Given the description of an element on the screen output the (x, y) to click on. 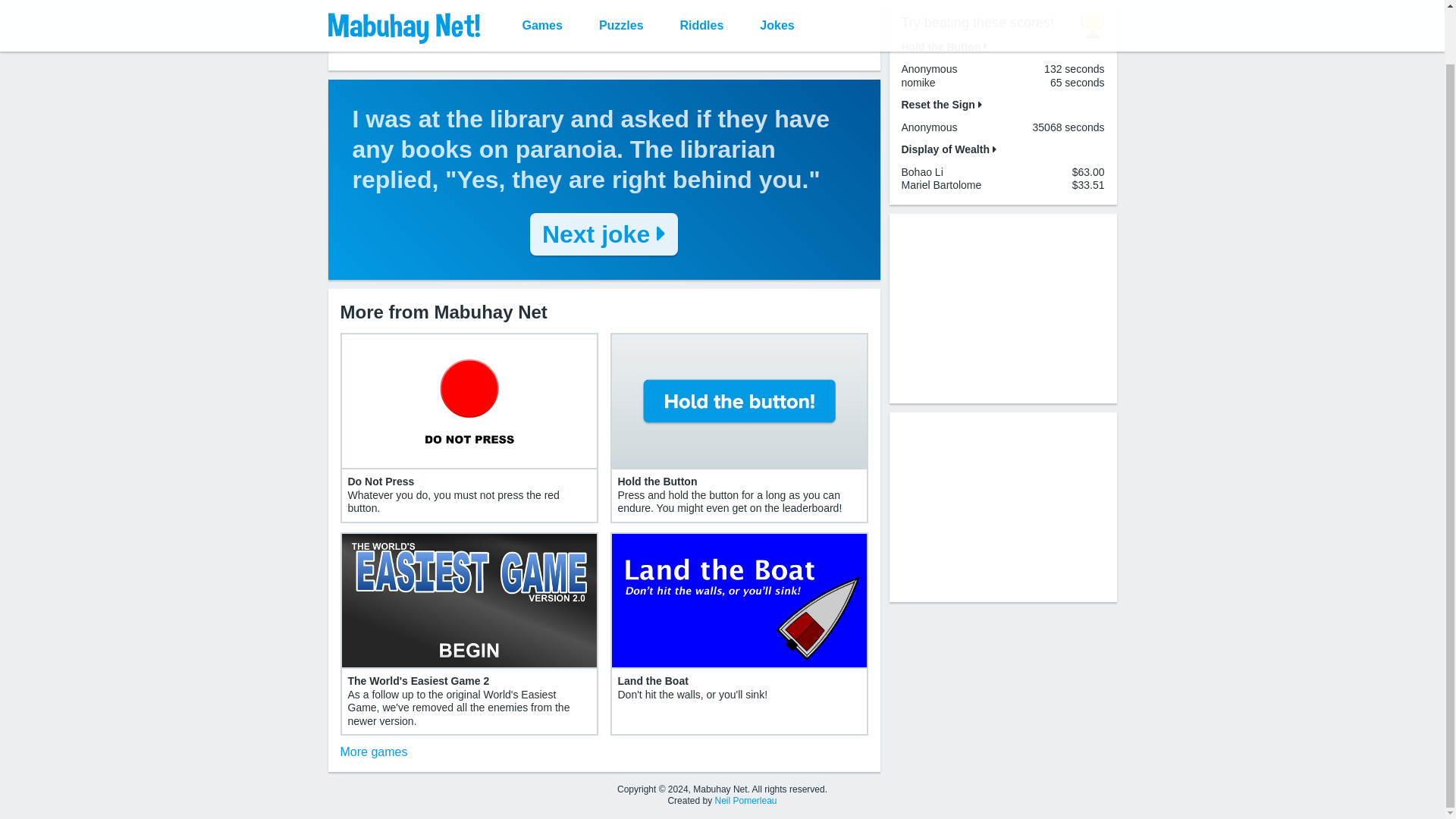
Advertisement (603, 36)
Hold the Button (657, 481)
Neil Pomerleau (745, 800)
The World's Easiest Game 2 (418, 680)
Land the Boat (652, 680)
More games (373, 751)
Display of Wealth (948, 149)
Next joke (603, 233)
Hold the Button (944, 46)
Do Not Press (380, 481)
Reset the Sign (941, 104)
Advertisement (1002, 506)
Advertisement (1002, 307)
